Given the description of an element on the screen output the (x, y) to click on. 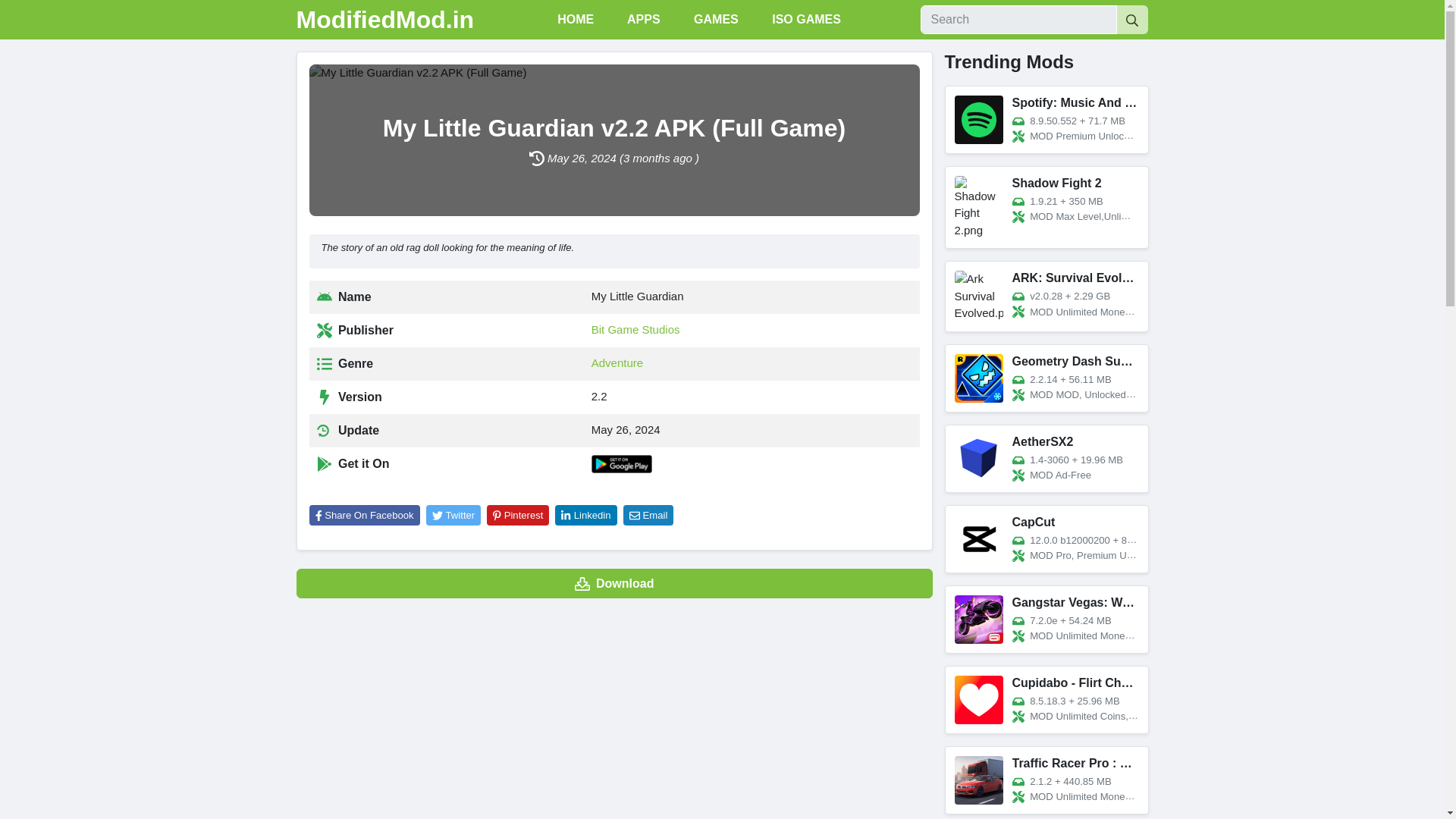
Download (613, 583)
 GAMES (714, 19)
Advertisement (613, 717)
Linkedin (584, 515)
Bit Game Studios (635, 328)
 APPS (641, 19)
 ISO GAMES (805, 19)
 HOME (573, 19)
ModifiedMod.in (384, 19)
Pinterest (517, 515)
